Given the description of an element on the screen output the (x, y) to click on. 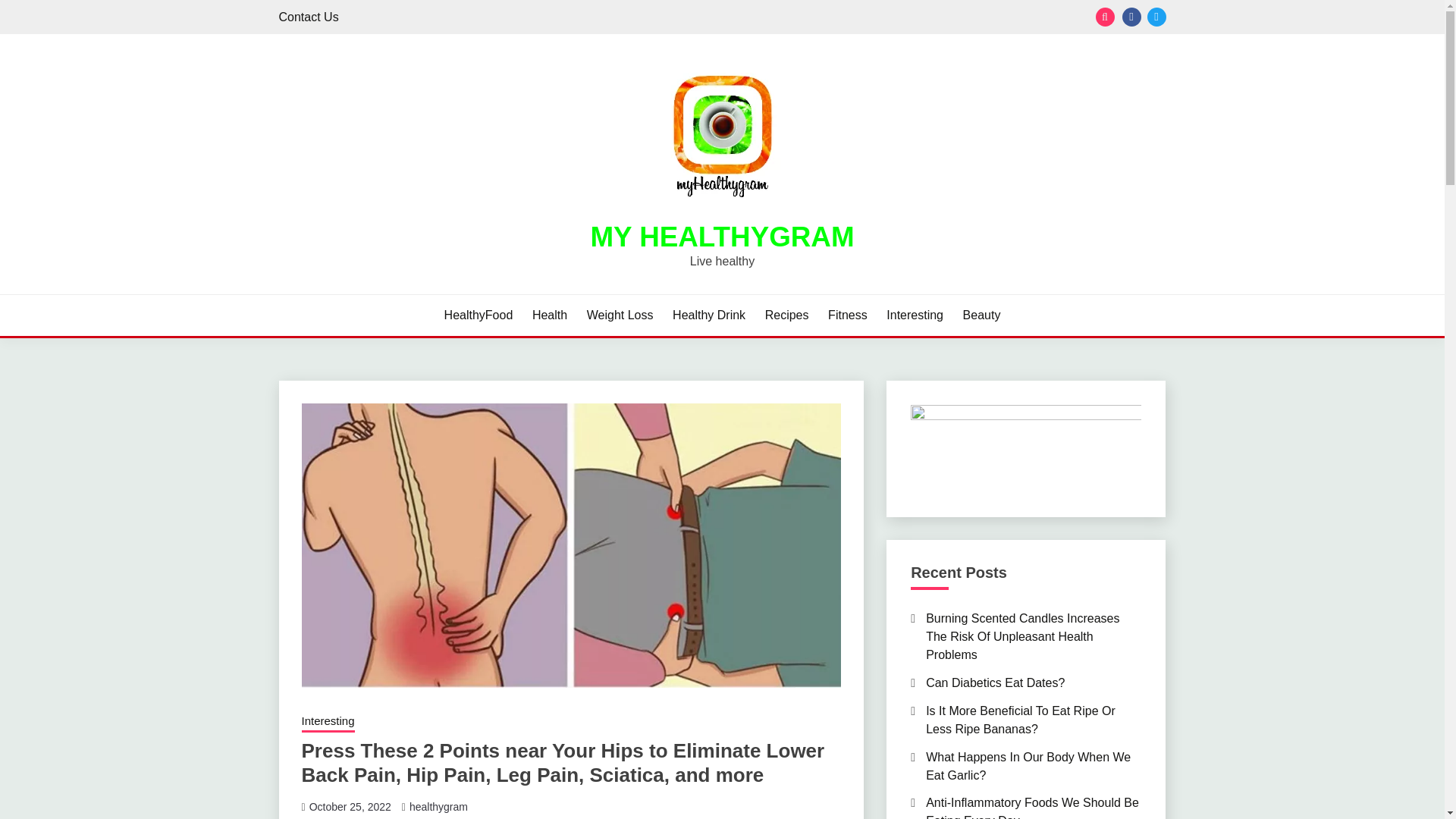
Twitter (1156, 16)
HealthyFood (478, 315)
Facebook (1131, 16)
Search (832, 18)
MY HEALTHYGRAM (721, 236)
Interesting (328, 722)
Recipes (787, 315)
Beauty (981, 315)
October 25, 2022 (349, 806)
Health (549, 315)
